Given the description of an element on the screen output the (x, y) to click on. 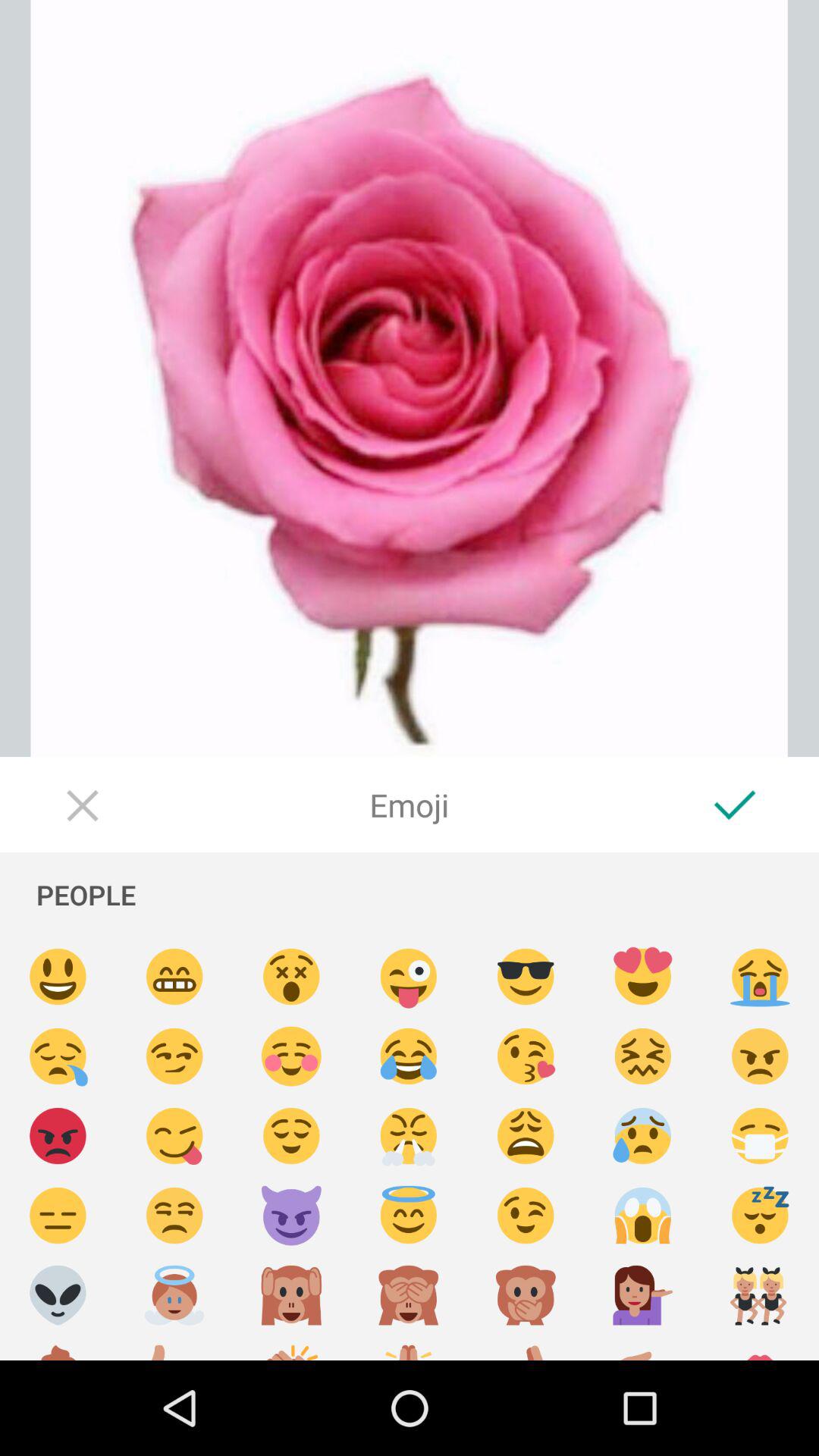
angry face emoji (58, 1136)
